Given the description of an element on the screen output the (x, y) to click on. 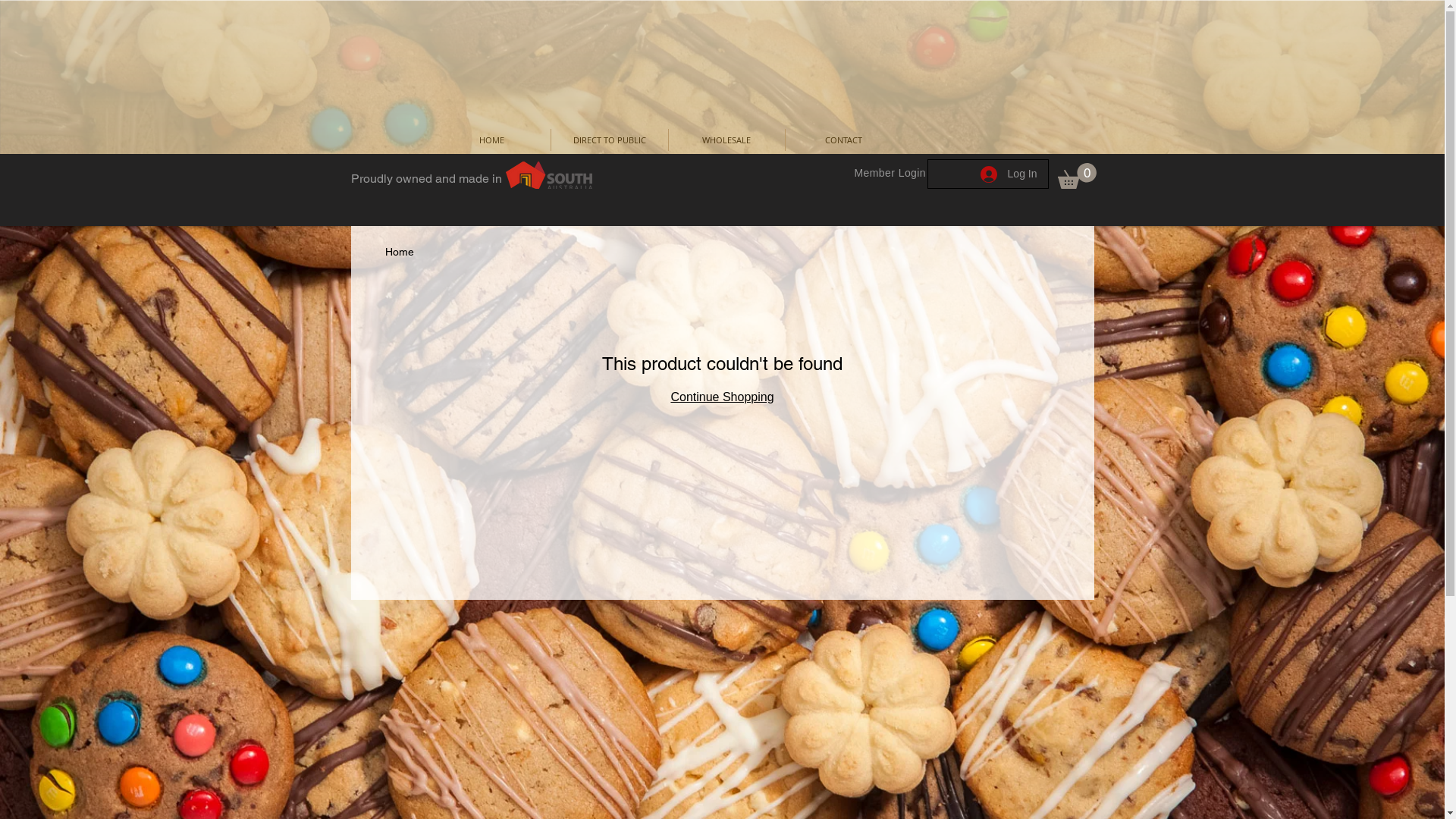
CONTACT Element type: text (843, 139)
DIRECT TO PUBLIC Element type: text (608, 139)
0 Element type: text (1076, 175)
HOME Element type: text (490, 139)
WHOLESALE Element type: text (726, 139)
Continue Shopping Element type: text (721, 396)
Home Element type: text (399, 251)
Log In Element type: text (1008, 173)
